Given the description of an element on the screen output the (x, y) to click on. 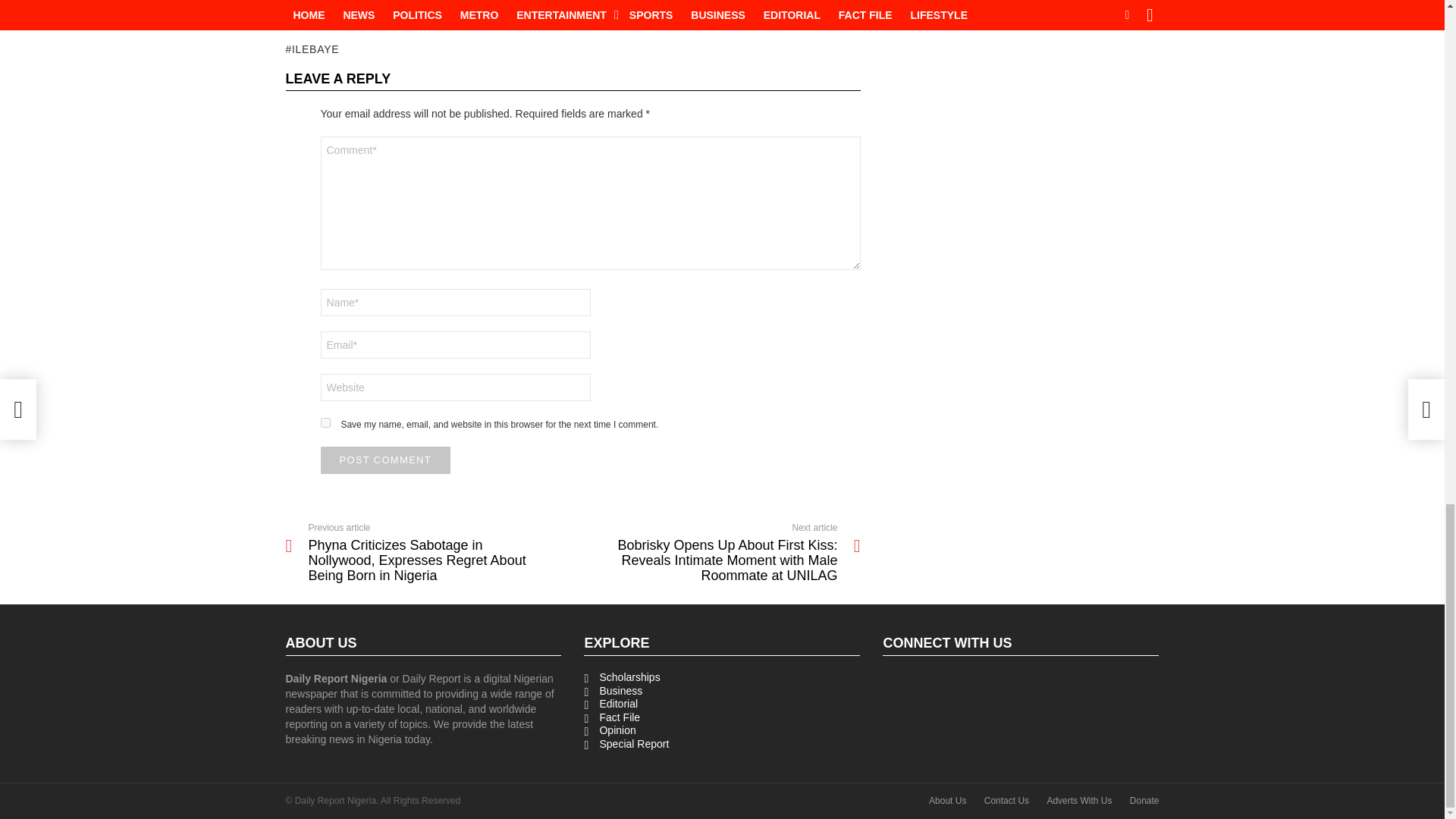
yes (325, 422)
Post Comment (384, 460)
